Given the description of an element on the screen output the (x, y) to click on. 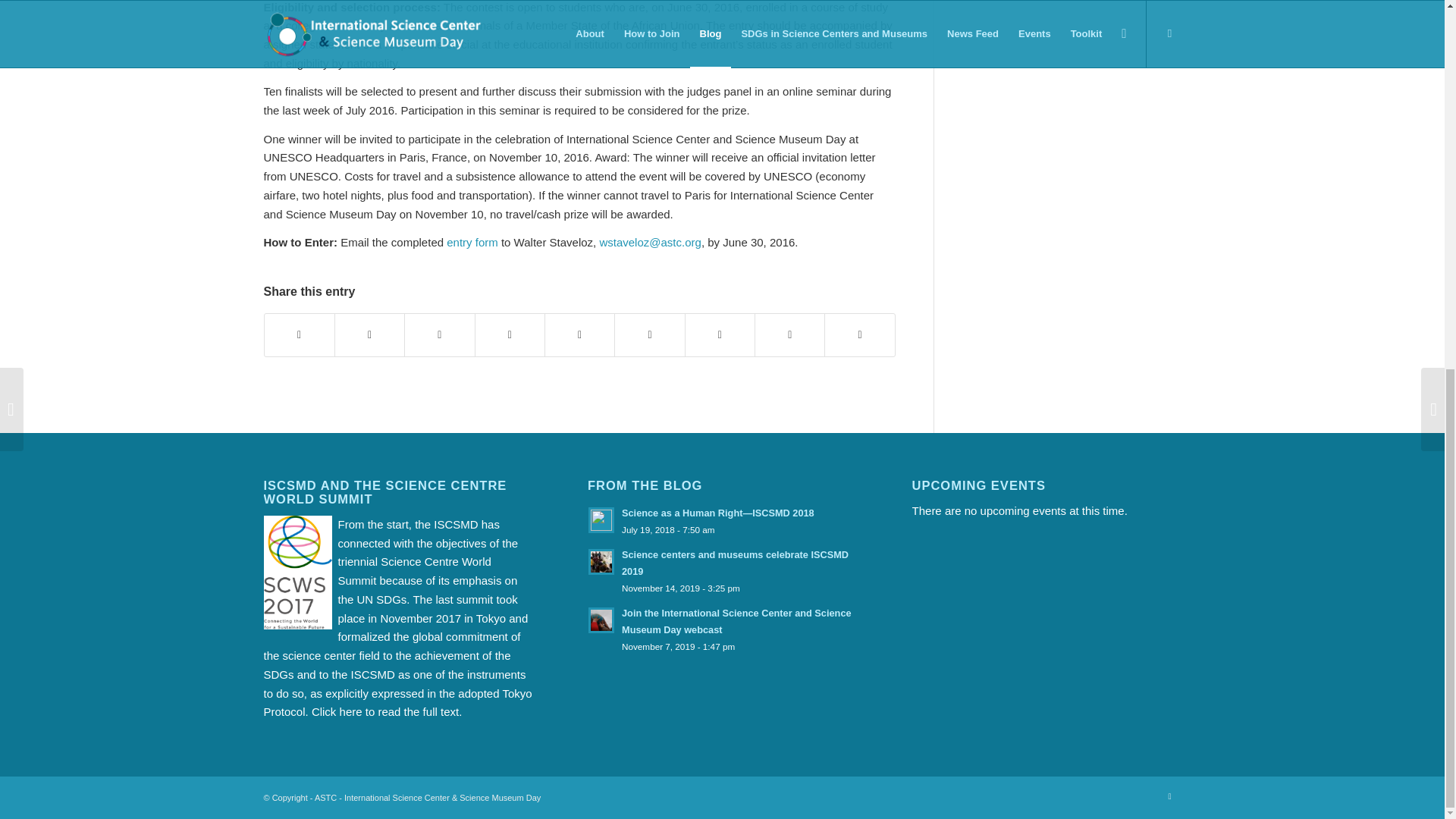
November 2017 in Tokyo (442, 617)
Click here to read the full text (384, 711)
entry form (471, 241)
